Given the description of an element on the screen output the (x, y) to click on. 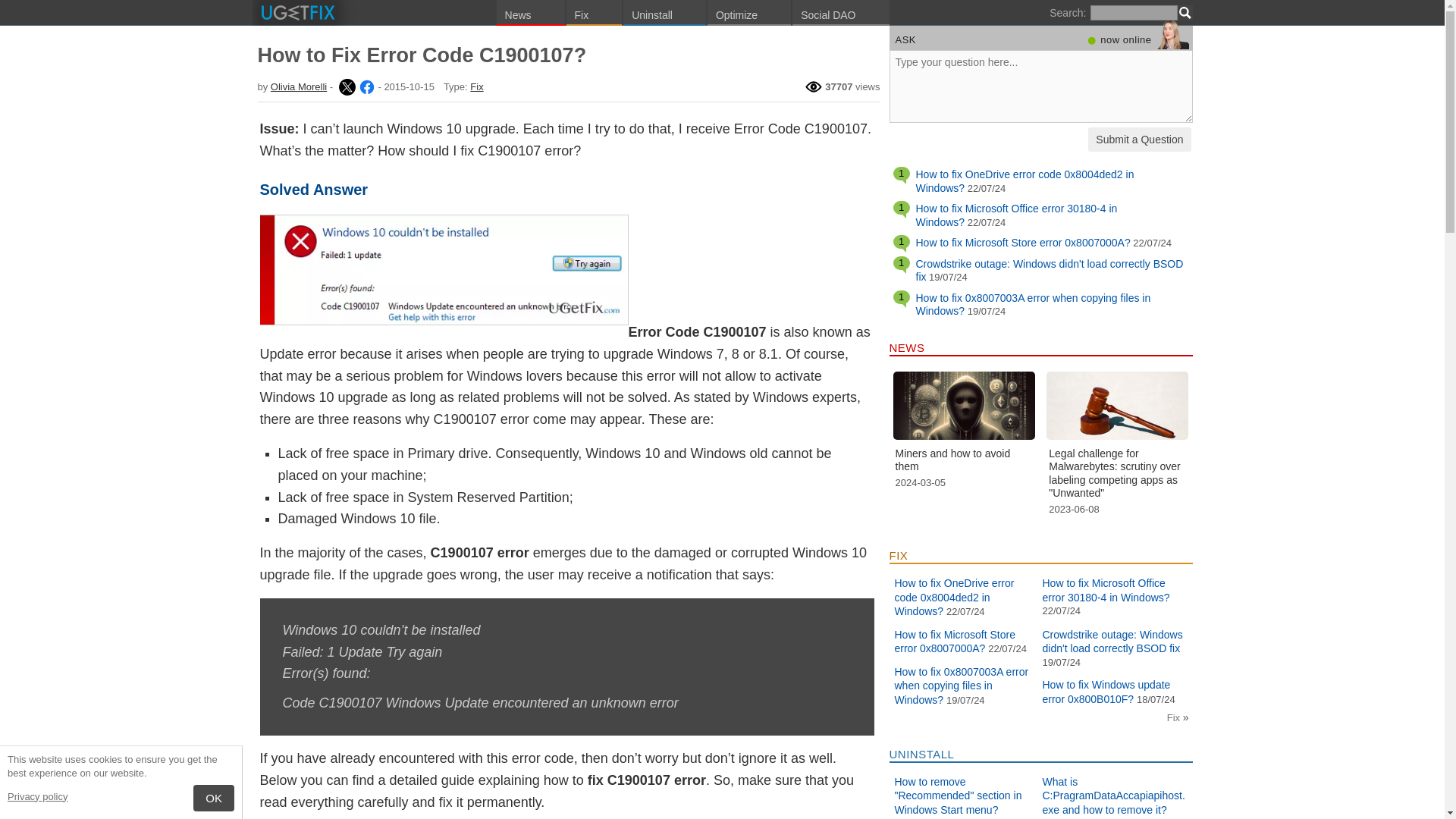
News (530, 12)
Crowdstrike outage: Windows didn't load correctly BSOD fix (1049, 270)
Submit a Question (1139, 139)
Fix (476, 86)
Privacy policy (36, 795)
ugetfix.com (296, 12)
How to fix Microsoft Store error 0x8007000A? (1023, 242)
How to fix Microsoft Office error 30180-4 in Windows? (1016, 215)
Social DAO (840, 12)
Fix (594, 12)
How to fix 0x8007003A error when copying files in Windows? (1033, 304)
Olivia Morelli (345, 86)
Miners and how to avoid them (964, 411)
Optimize (748, 12)
